Given the description of an element on the screen output the (x, y) to click on. 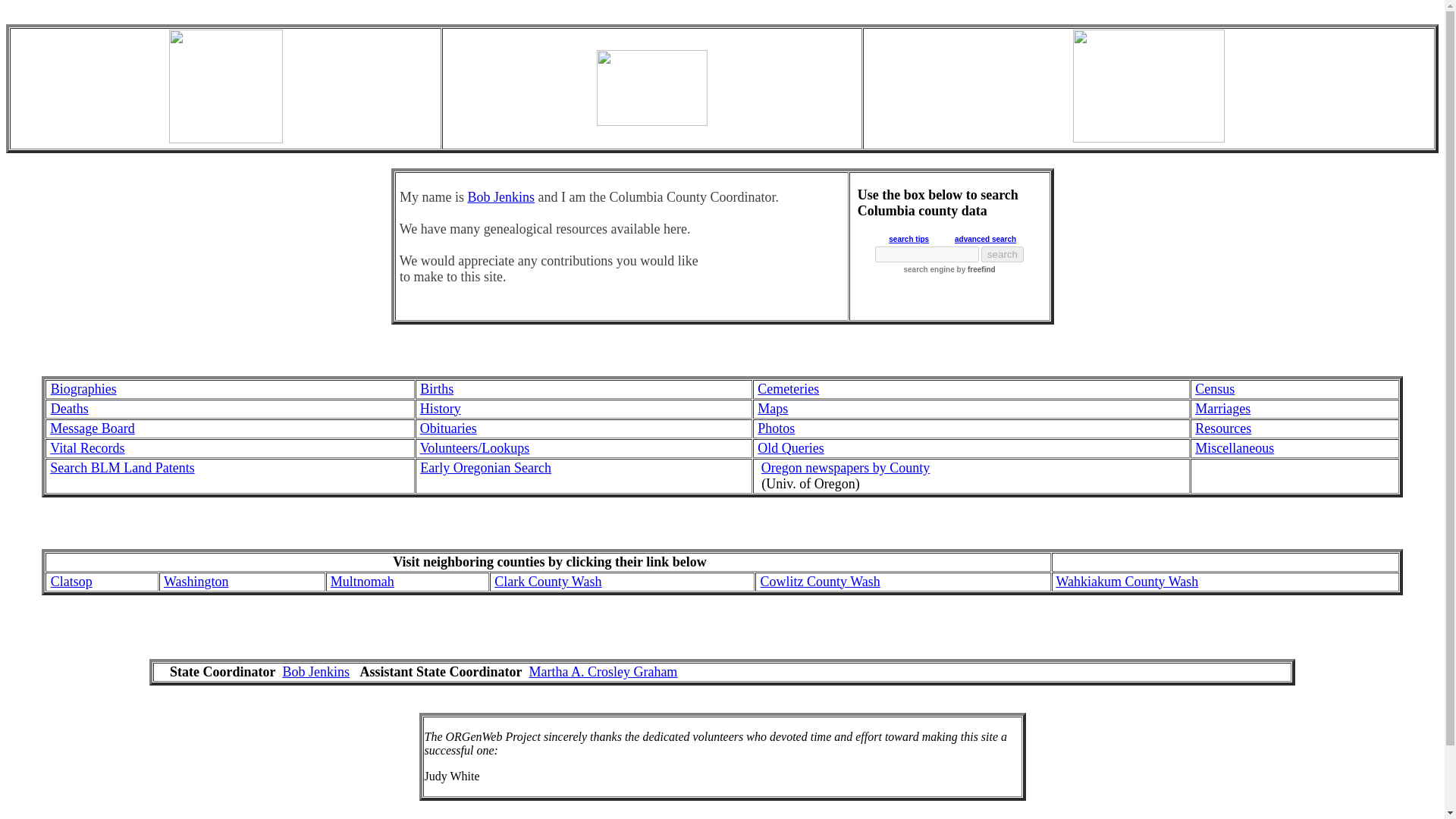
search (1002, 254)
ies (810, 388)
Bob Jenkins (315, 671)
Oregon newspapers by County (845, 467)
Photos (775, 428)
Deaths (69, 408)
advanced search (985, 239)
by freefind (975, 269)
History (440, 408)
Martha A. Crosley Graham (602, 671)
Births (436, 388)
Bob Jenkins (500, 196)
Biographies (83, 388)
Marriages (1222, 408)
Old Queries (790, 448)
